Given the description of an element on the screen output the (x, y) to click on. 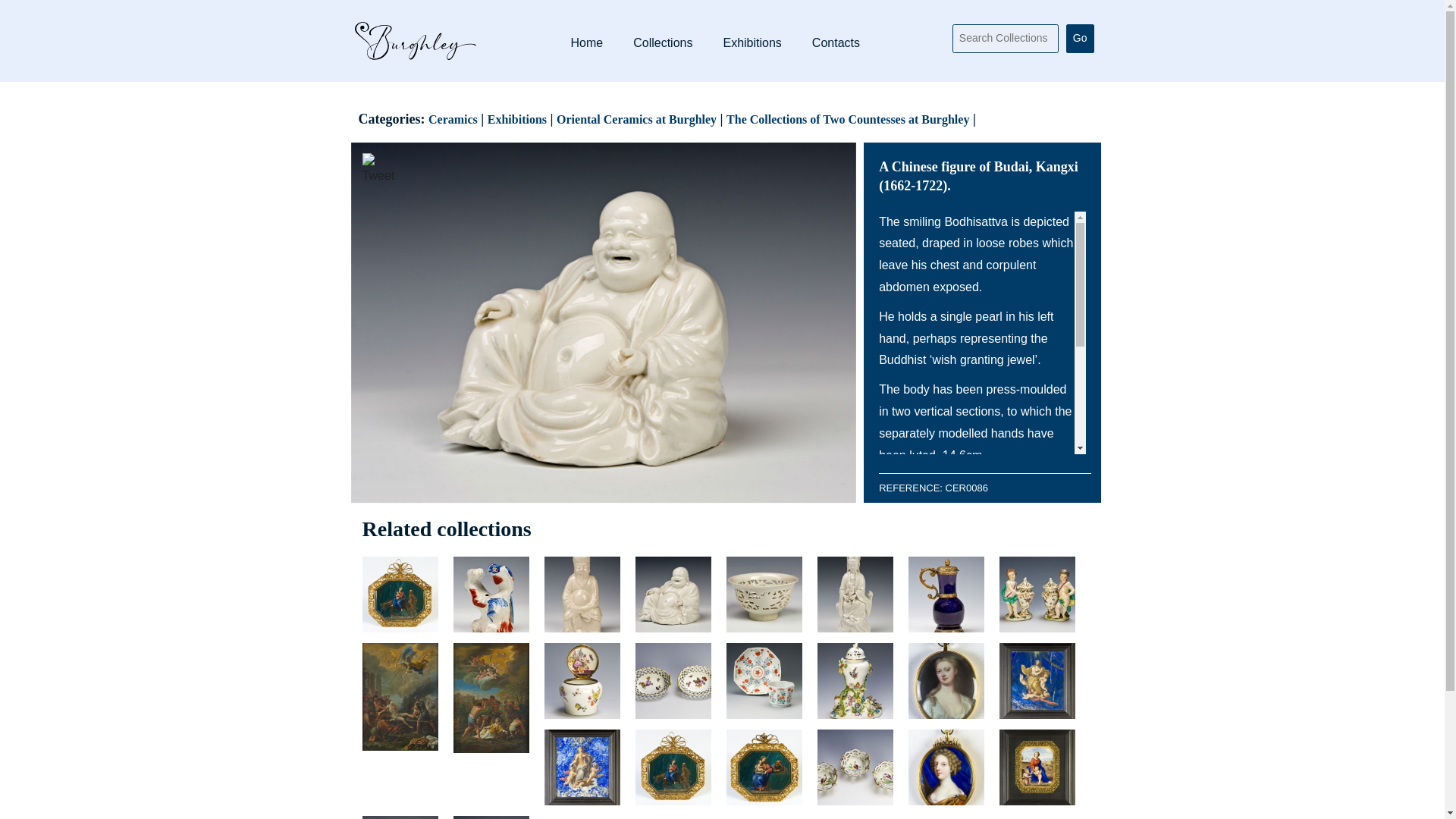
Go (1079, 38)
Exhibitions (517, 119)
Contacts (835, 42)
Oriental Ceramics at Burghley (636, 119)
The Collections of Two Countesses at Burghley (847, 119)
Go (1079, 38)
Ceramics (452, 119)
Exhibitions (751, 42)
Collections (662, 42)
